Given the description of an element on the screen output the (x, y) to click on. 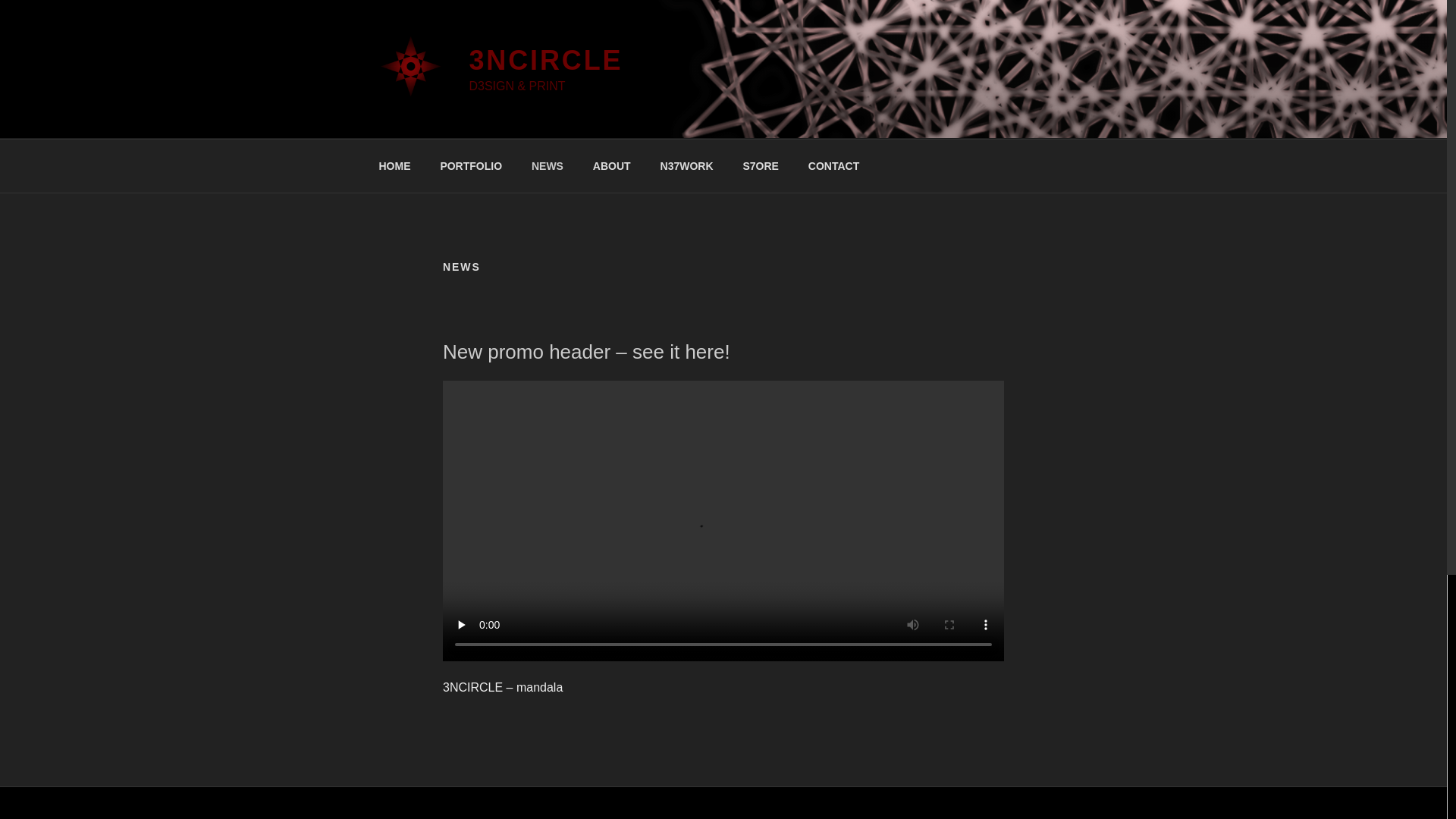
S7ORE Element type: text (760, 165)
PORTFOLIO Element type: text (470, 165)
NEWS Element type: text (546, 165)
3NCIRCLE Element type: text (545, 59)
ABOUT Element type: text (611, 165)
N37WORK Element type: text (686, 165)
CONTACT Element type: text (833, 165)
HOME Element type: text (394, 165)
